Given the description of an element on the screen output the (x, y) to click on. 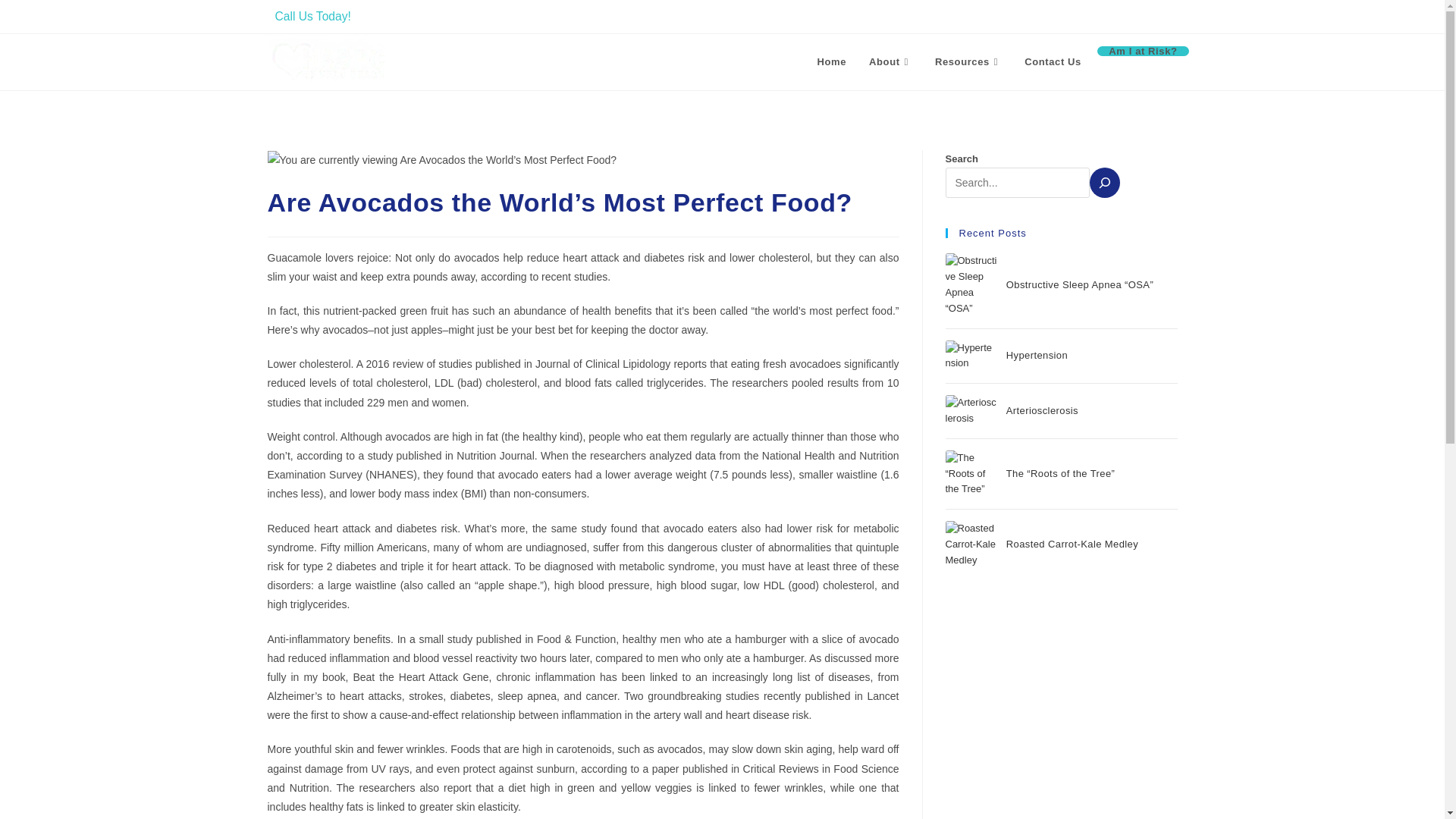
Resources (968, 62)
Arteriosclerosis (969, 410)
Hypertension (969, 356)
Roasted Carrot-Kale Medley (1072, 543)
Arteriosclerosis (1042, 410)
Home (832, 62)
Roasted Carrot-Kale Medley (969, 544)
Contact Us (1053, 62)
About (890, 62)
Hypertension (1036, 355)
Am I at Risk? (1142, 50)
